Given the description of an element on the screen output the (x, y) to click on. 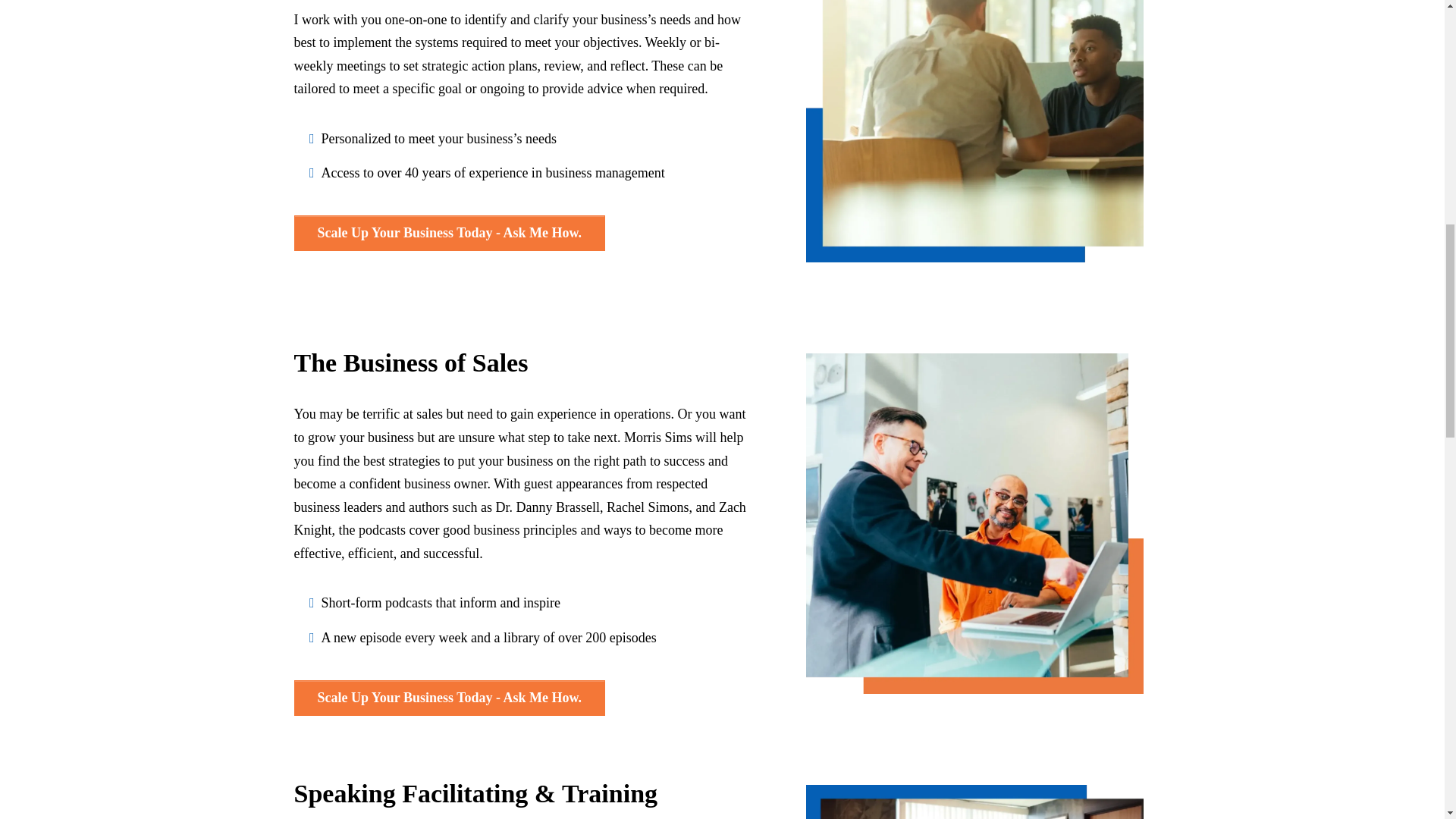
Scale Up Your Business Today - Ask Me How. (449, 697)
Scale Up Your Business Today - Ask Me How. (449, 232)
